Given the description of an element on the screen output the (x, y) to click on. 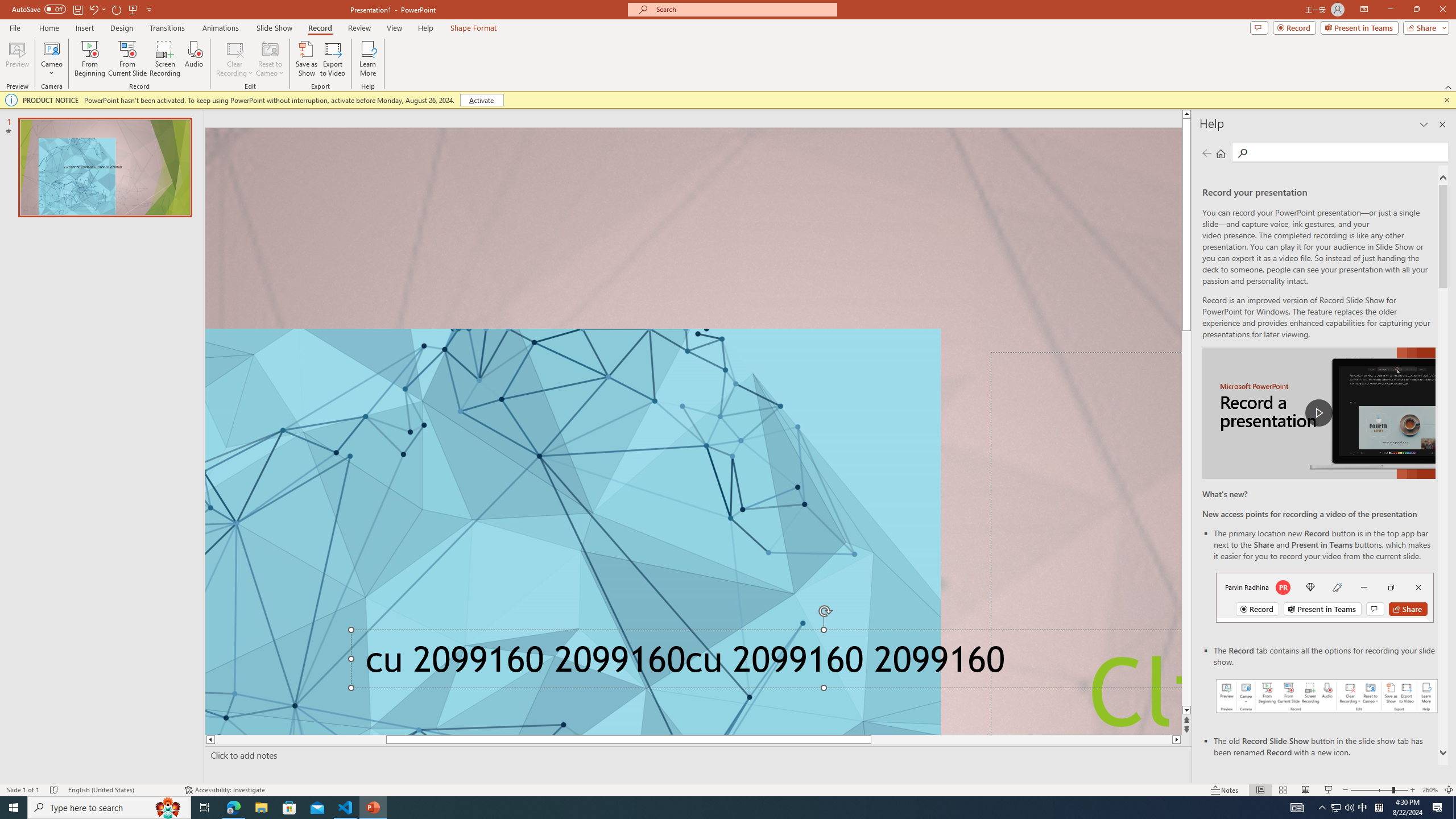
TextBox 61 (762, 663)
